Given the description of an element on the screen output the (x, y) to click on. 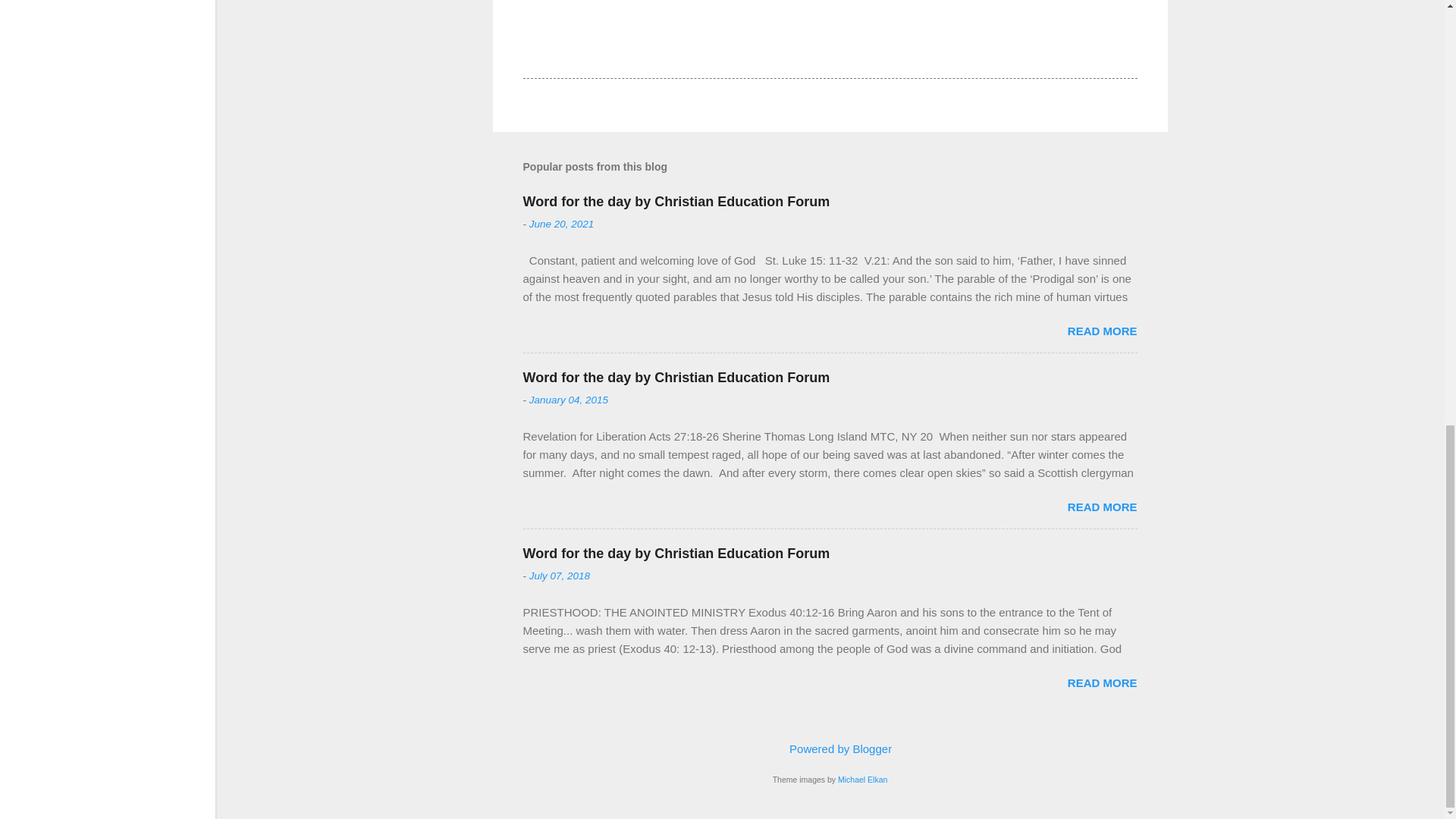
permanent link (561, 224)
Word for the day by Christian Education Forum (675, 377)
June 20, 2021 (561, 224)
July 07, 2018 (559, 575)
READ MORE (1102, 506)
Powered by Blogger (829, 748)
READ MORE (1102, 682)
January 04, 2015 (568, 399)
READ MORE (1102, 330)
Word for the day by Christian Education Forum (675, 553)
Michael Elkan (862, 778)
Word for the day by Christian Education Forum (675, 201)
